Given the description of an element on the screen output the (x, y) to click on. 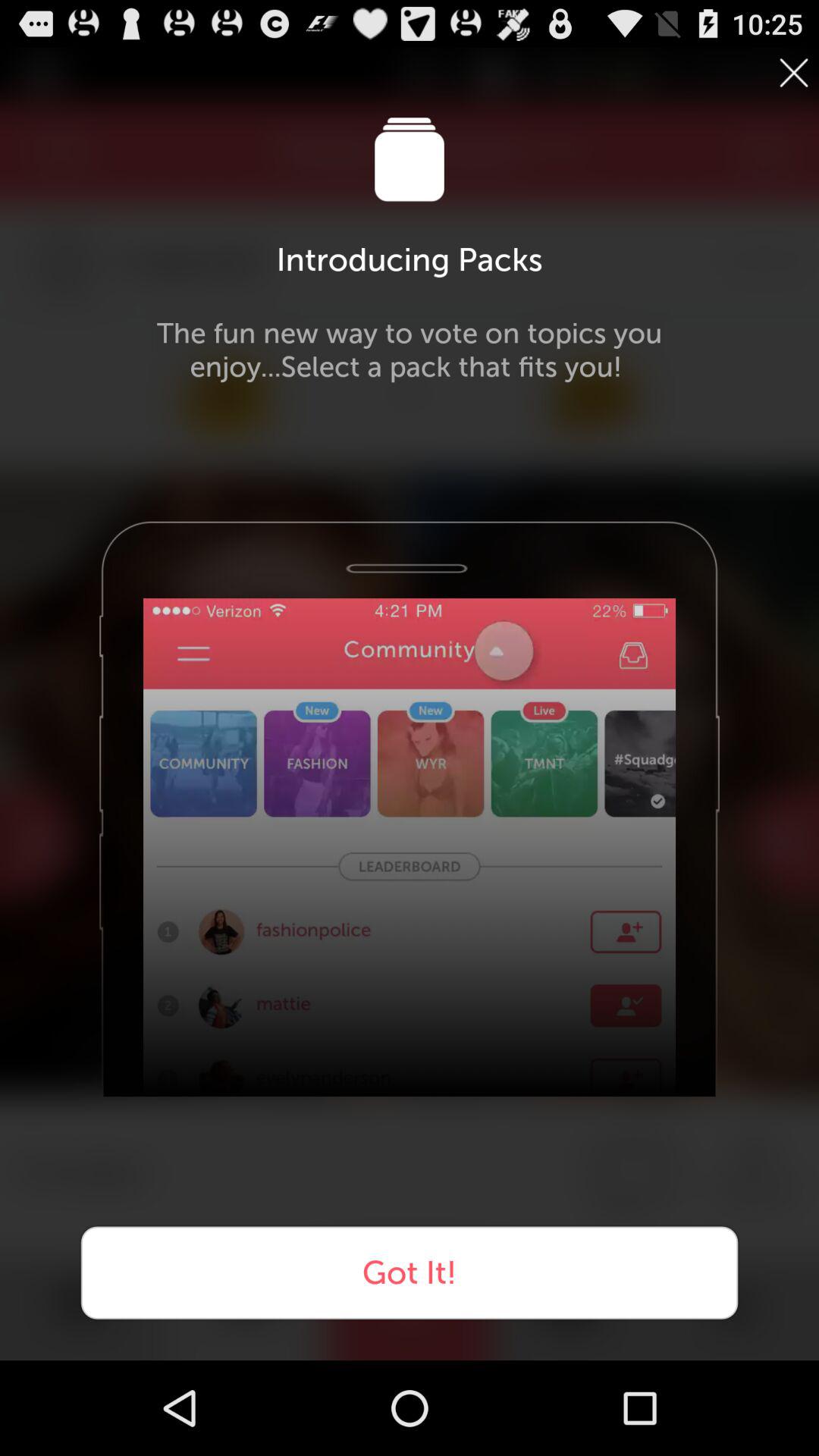
close window (793, 72)
